Given the description of an element on the screen output the (x, y) to click on. 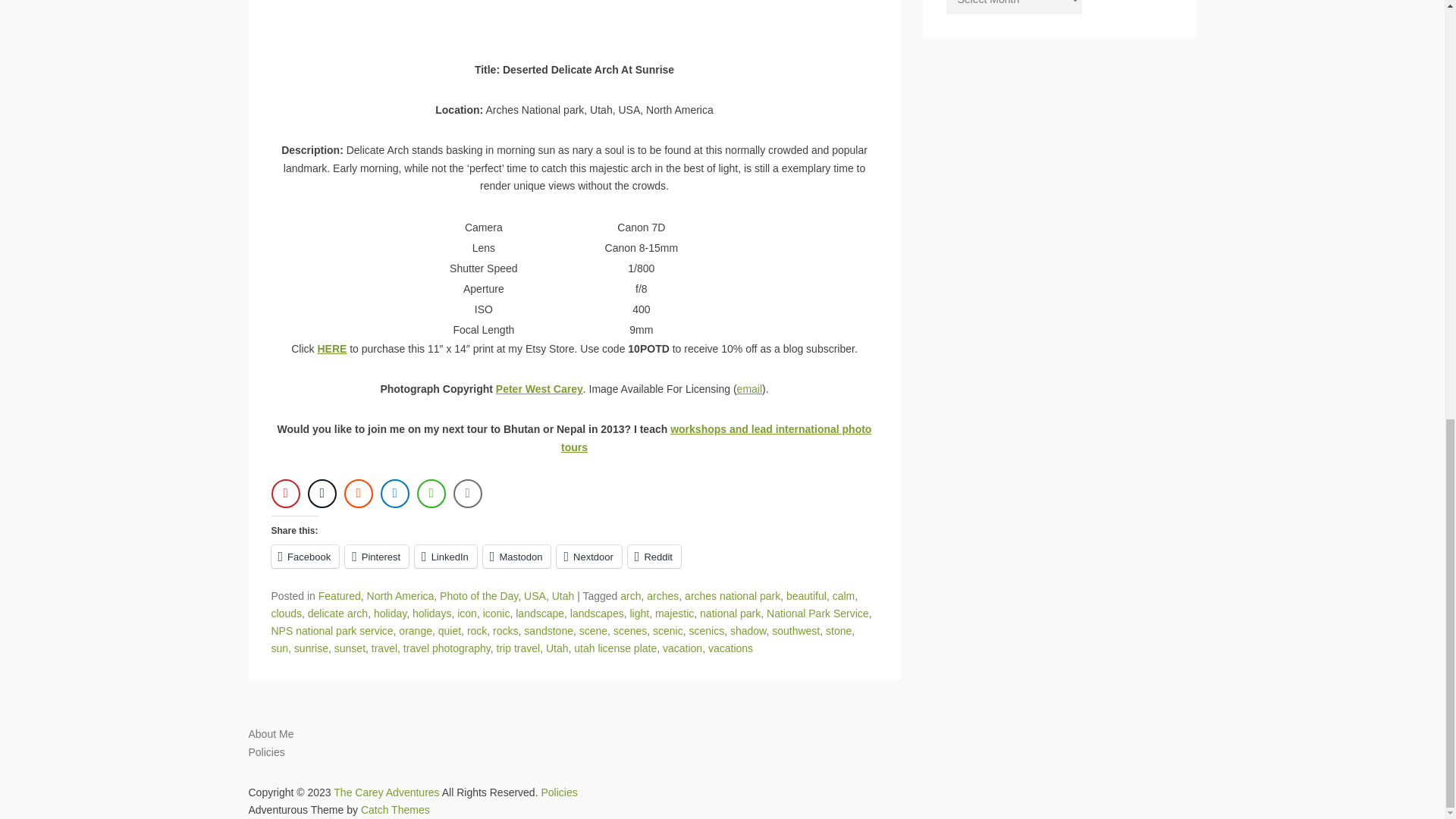
arch (630, 595)
email (748, 388)
LinkedIn (445, 556)
Facebook (304, 556)
Click to share on Reddit (654, 556)
Mastodon (517, 556)
Catch Themes (395, 809)
USA (535, 595)
Click to share on Pinterest (377, 556)
Click to share on Facebook (304, 556)
